Given the description of an element on the screen output the (x, y) to click on. 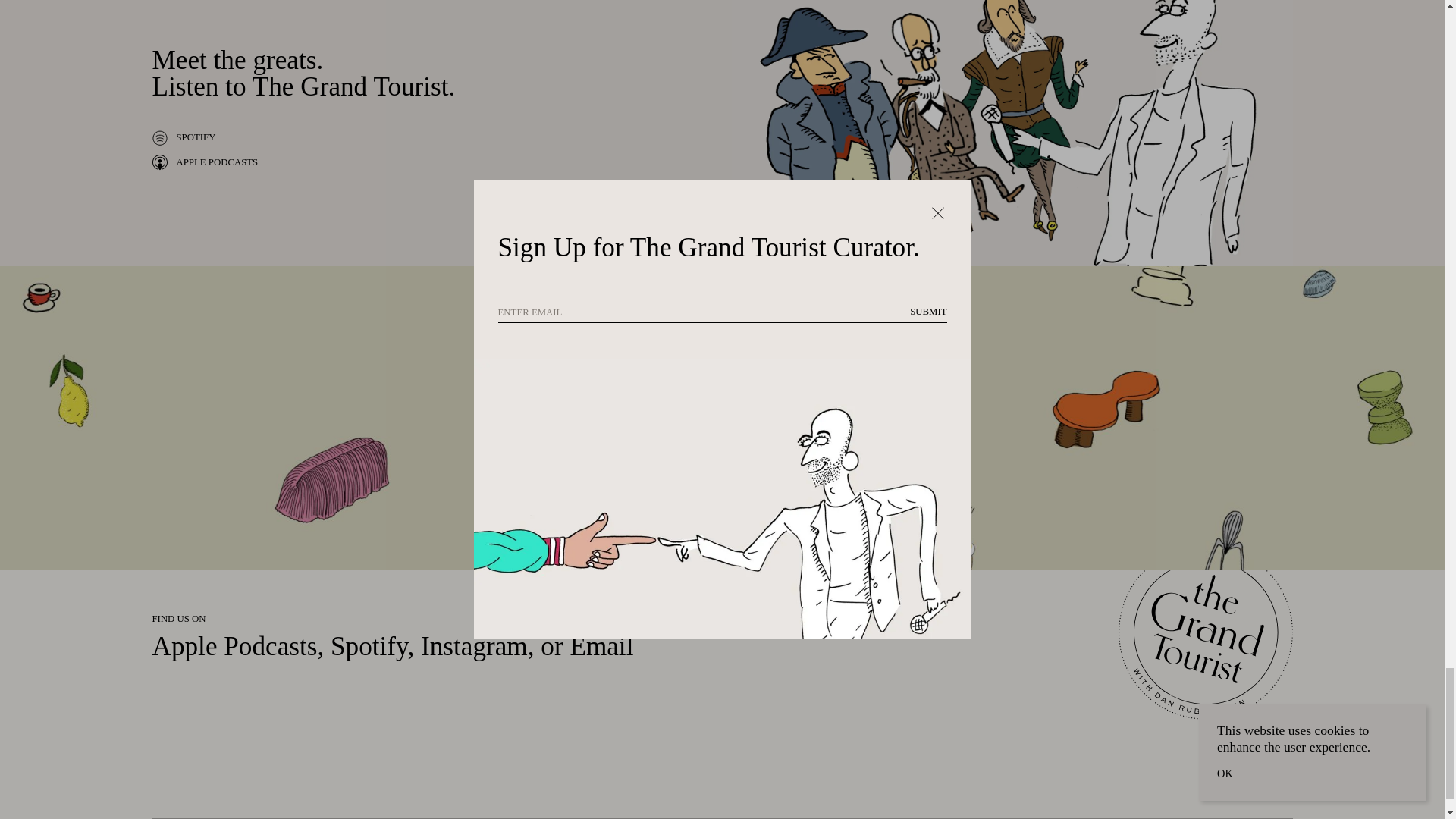
APPLE PODCASTS (204, 162)
SPOTIFY (183, 137)
Email (601, 645)
Instagram (473, 645)
Spotify (368, 645)
Apple Podcasts (234, 645)
